Given the description of an element on the screen output the (x, y) to click on. 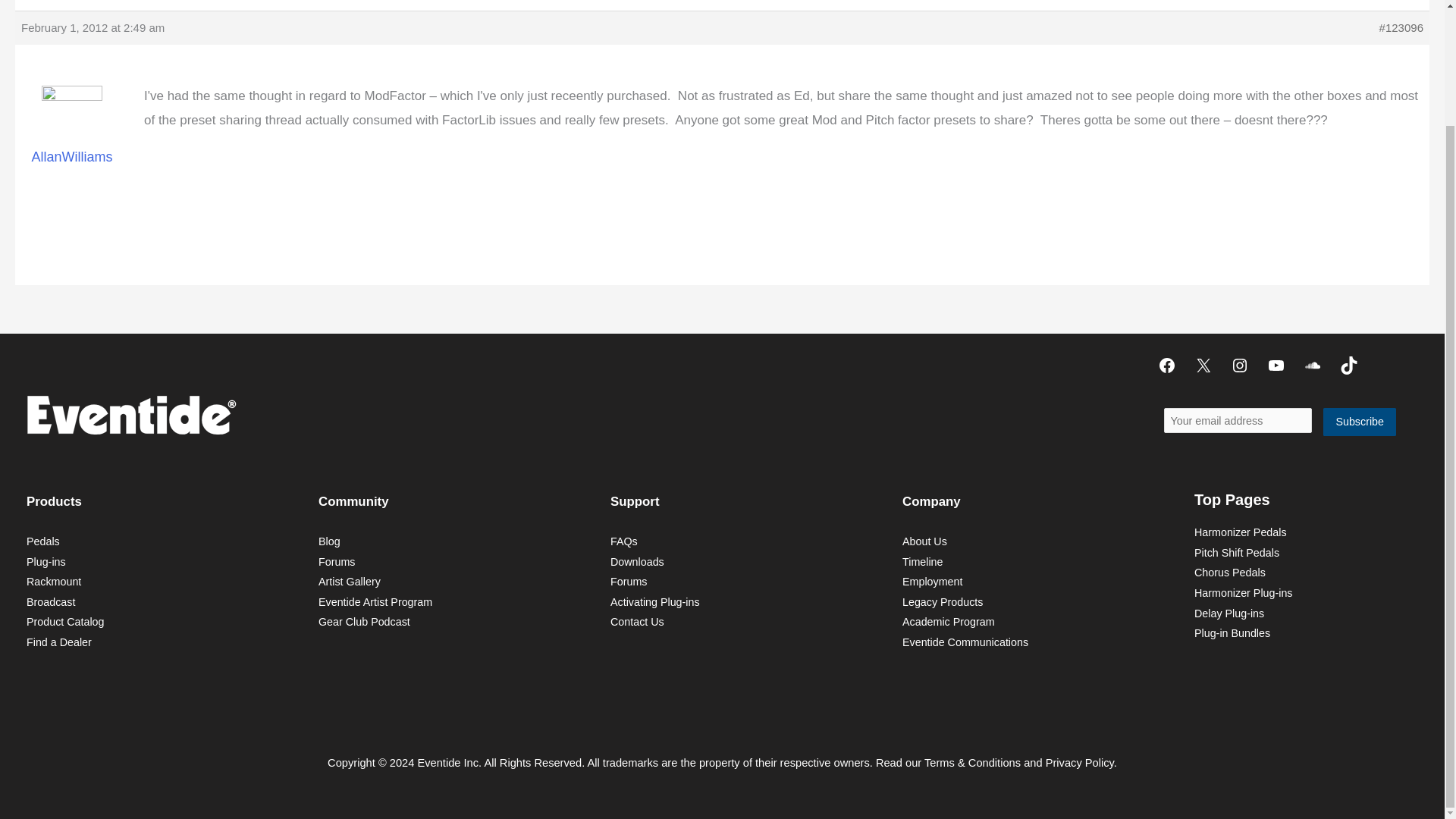
Subscribe (1359, 421)
View AllanWilliams's profile (71, 135)
eventide-logo-white (130, 414)
